Given the description of an element on the screen output the (x, y) to click on. 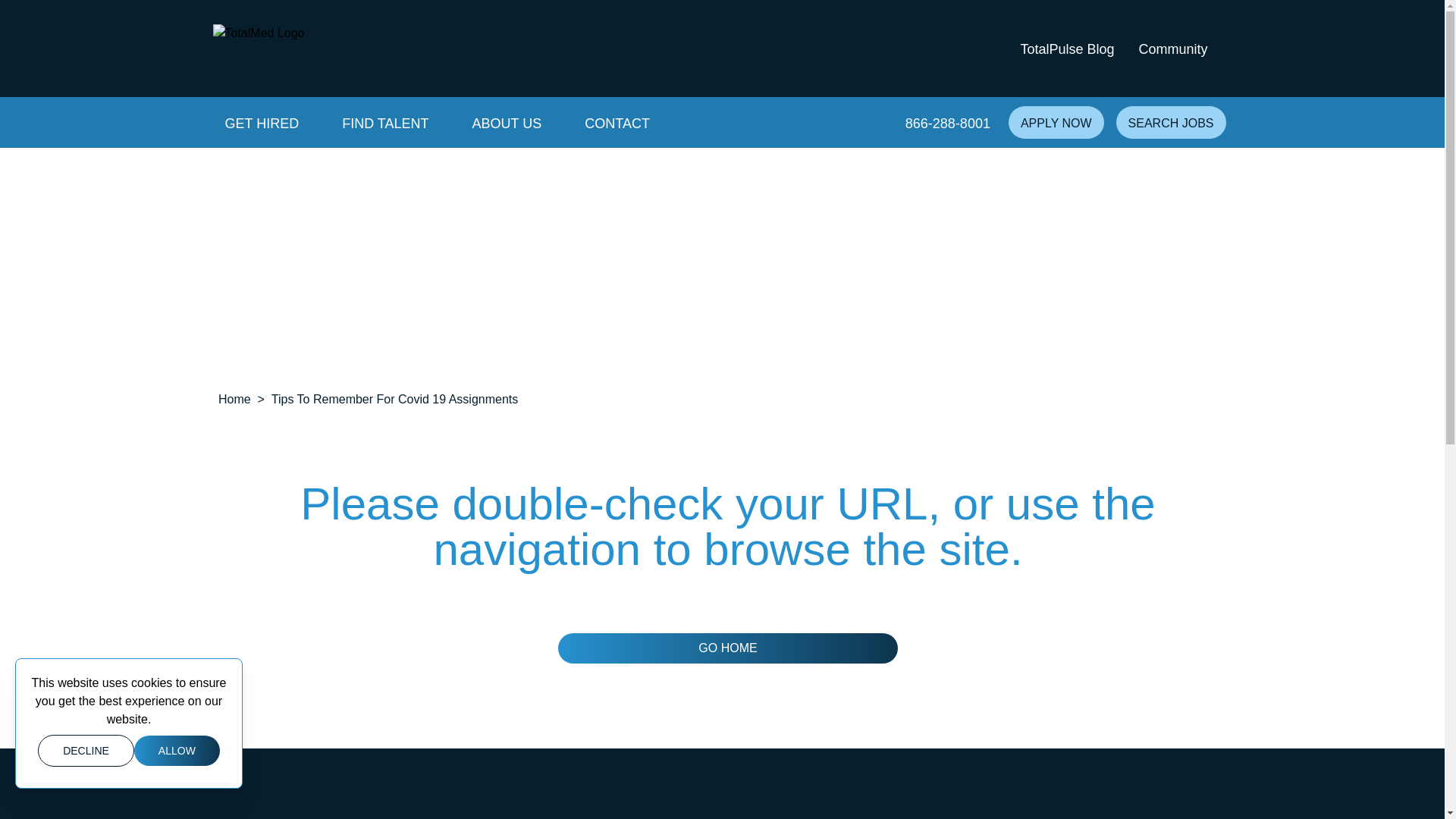
866-288-8001 (947, 121)
Community (1172, 48)
Search Jobs (1170, 122)
TotalPulse Blog (1066, 48)
Home (258, 48)
TotalPulse Blog (1066, 48)
Community (1172, 48)
Apply Now (1056, 122)
